Given the description of an element on the screen output the (x, y) to click on. 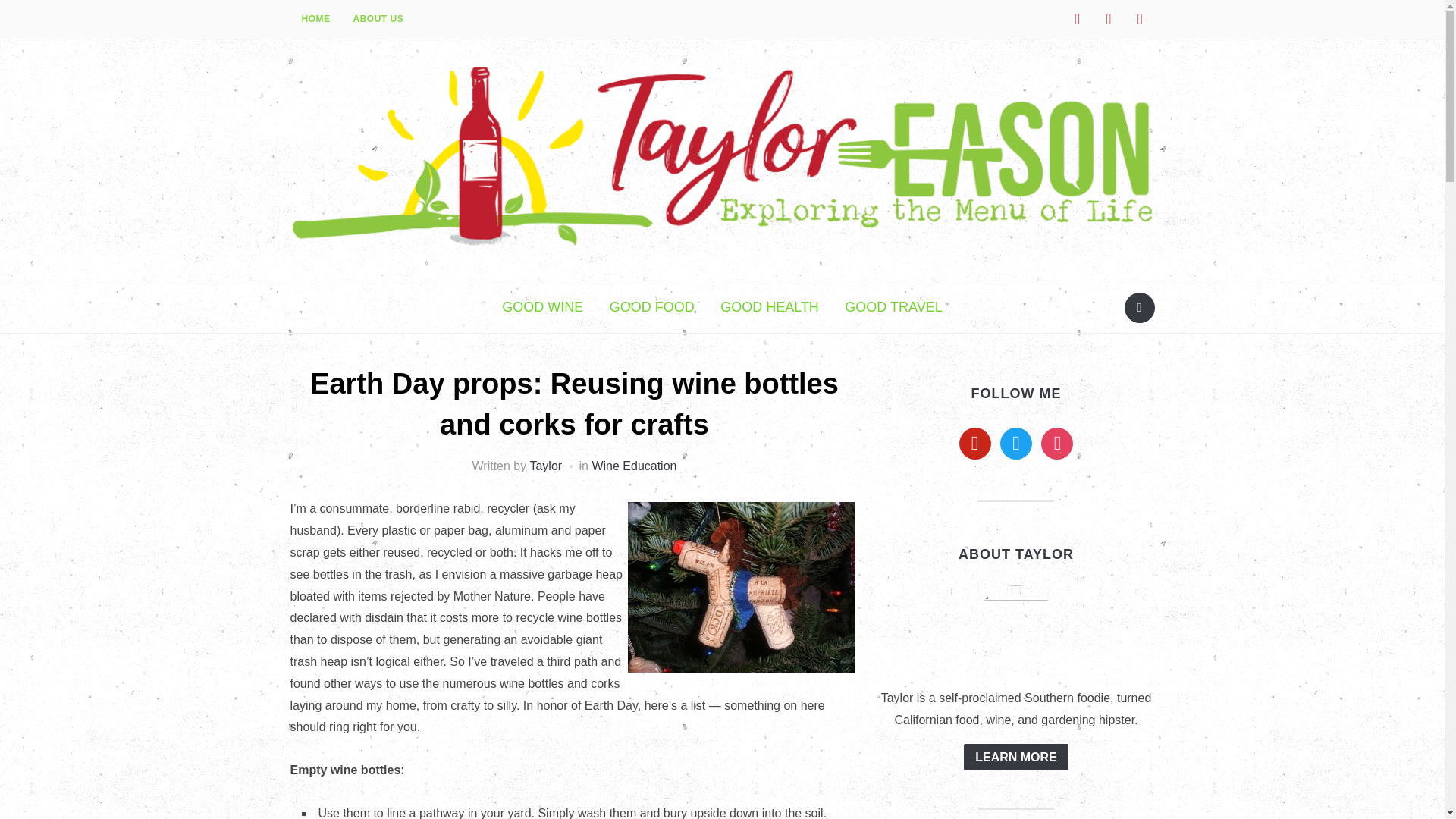
Instagram (1077, 18)
reindeer cork ornament (741, 587)
Default Label (1108, 18)
mail (1139, 18)
ABOUT US (377, 19)
HOME (314, 19)
Default Label (1139, 18)
Search (1139, 307)
pinterest (1108, 18)
instagram (1077, 18)
